Given the description of an element on the screen output the (x, y) to click on. 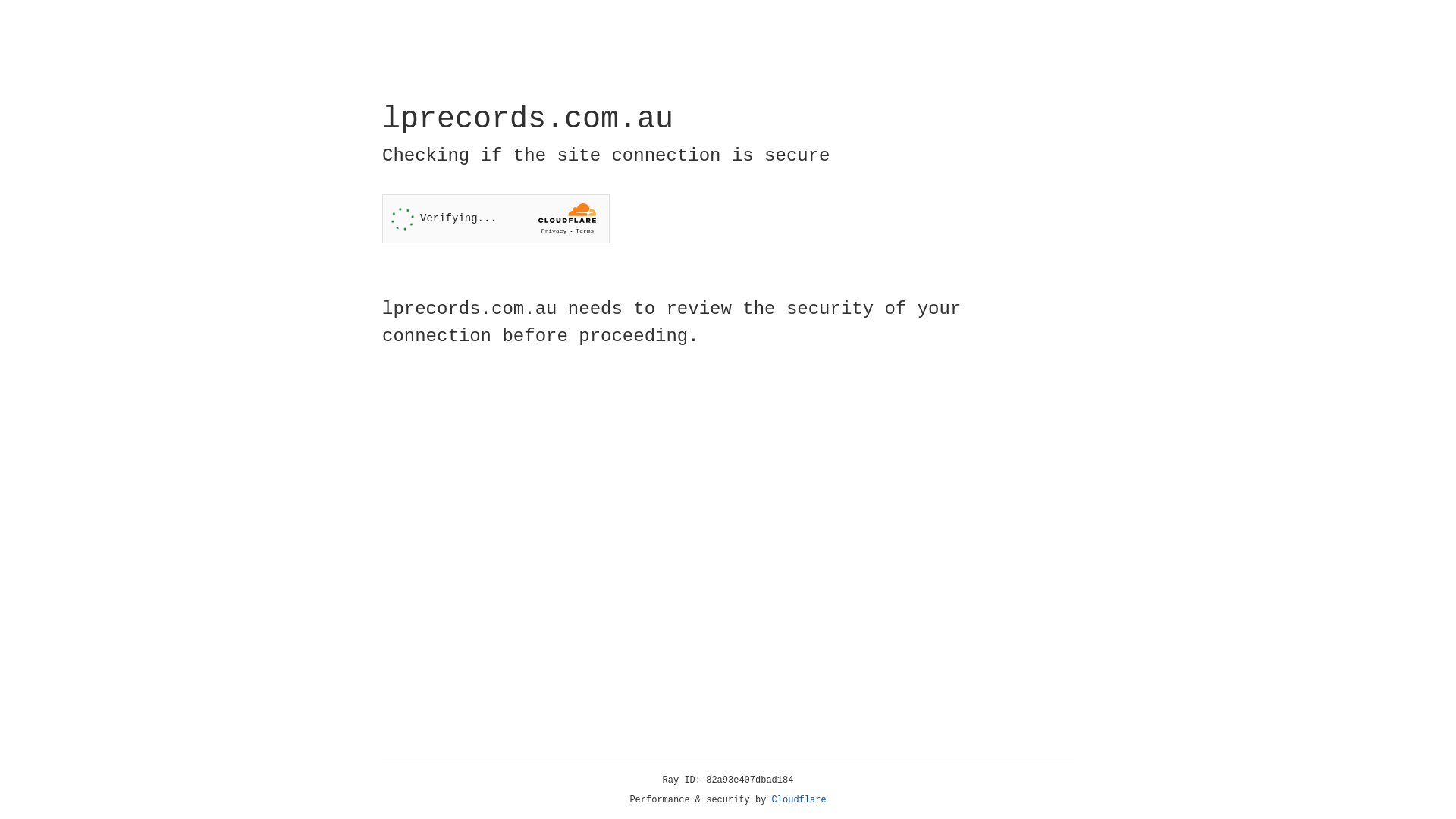
Widget containing a Cloudflare security challenge Element type: hover (495, 218)
Cloudflare Element type: text (798, 799)
